Given the description of an element on the screen output the (x, y) to click on. 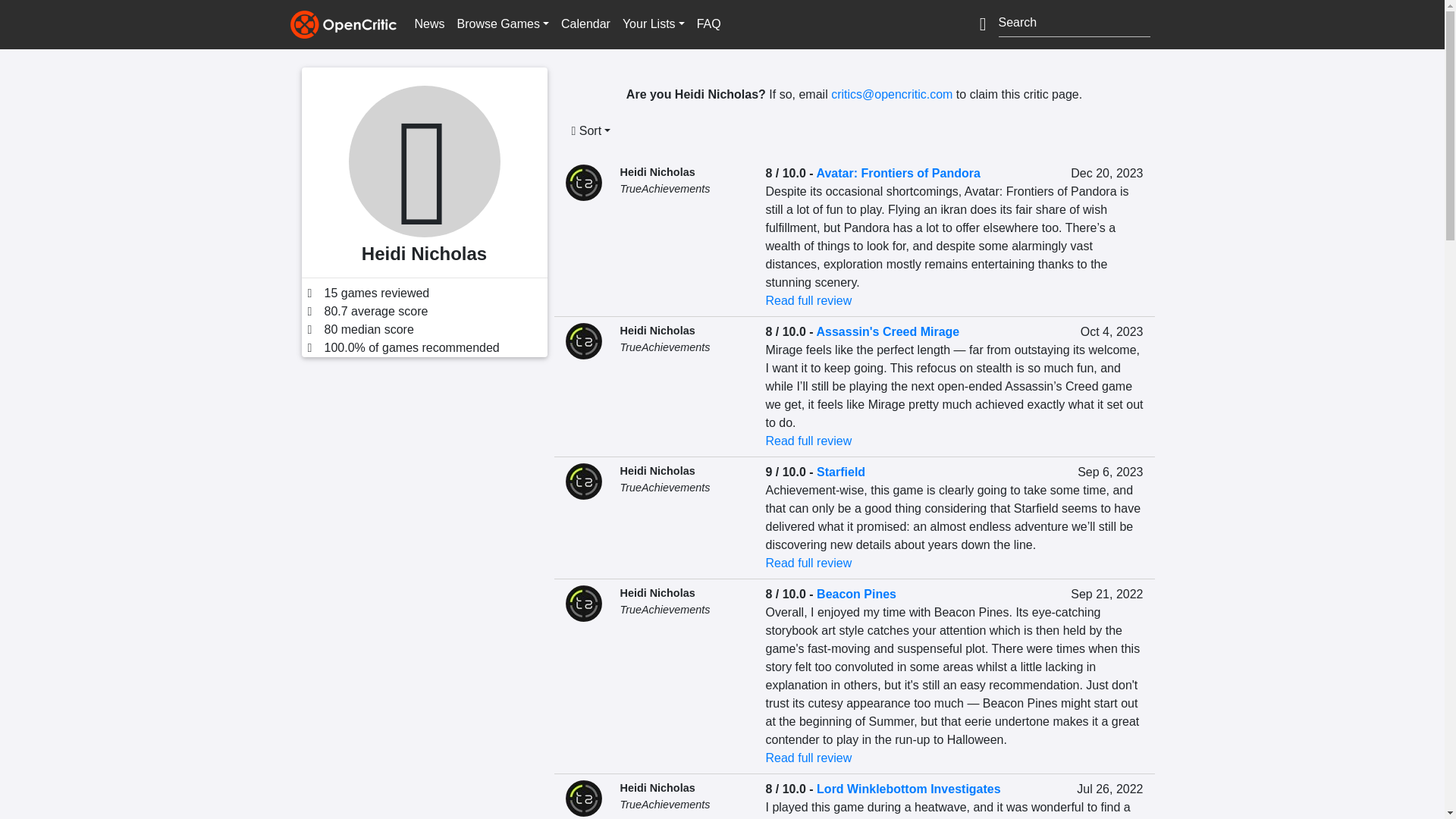
TrueAchievements (665, 346)
Heidi Nicholas (657, 330)
Browse Games (502, 24)
Read full review (808, 300)
Avatar: Frontiers of Pandora (897, 173)
News (428, 24)
TrueAchievements (665, 487)
FAQ (708, 24)
Starfield (840, 472)
Your Lists (652, 24)
